Given the description of an element on the screen output the (x, y) to click on. 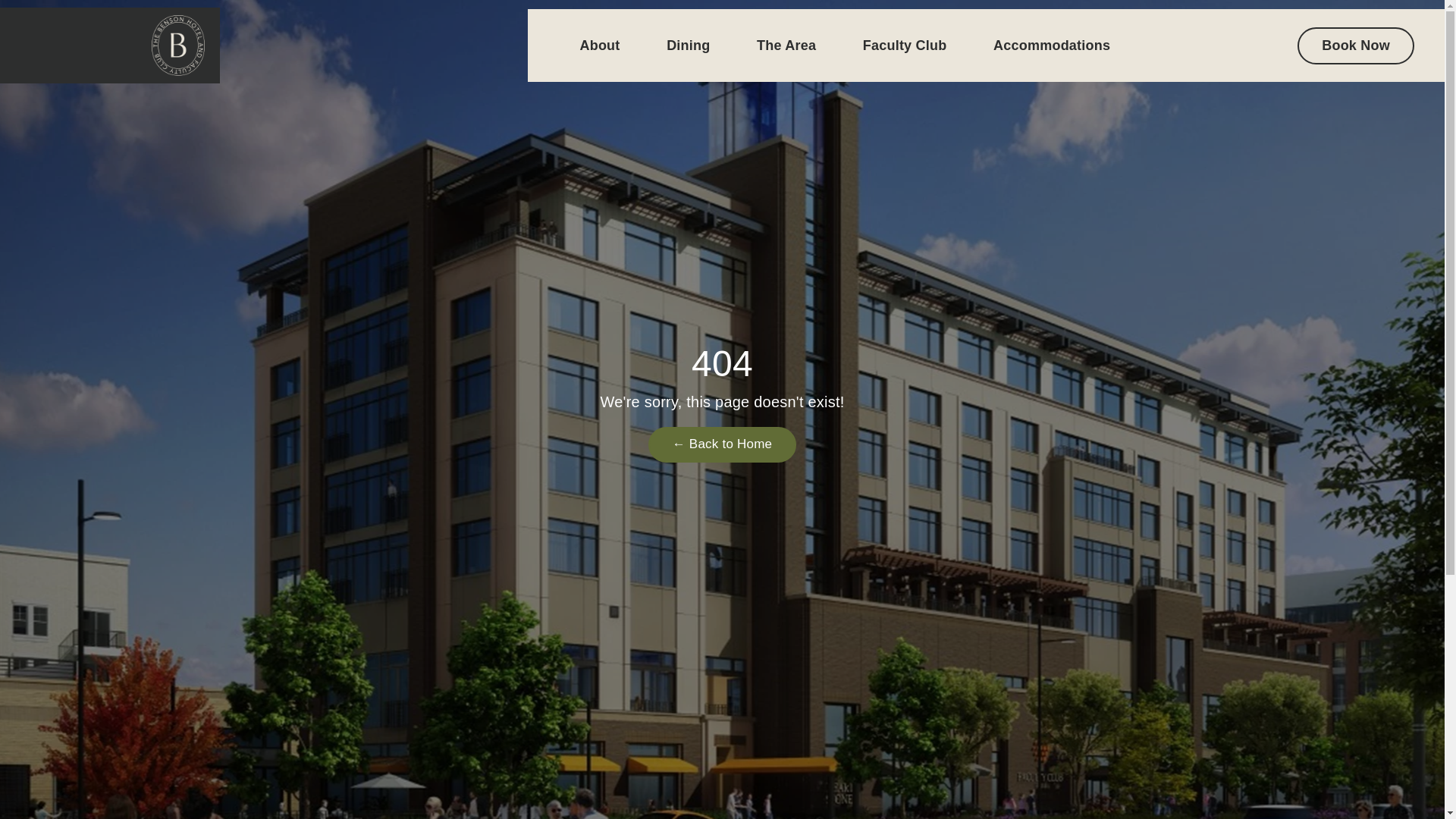
Book Now (1355, 45)
Faculty Club (904, 45)
The Benson Hotel Homepage (721, 444)
About (600, 45)
Dining (687, 45)
Accommodations (1050, 45)
The Area (786, 45)
